Given the description of an element on the screen output the (x, y) to click on. 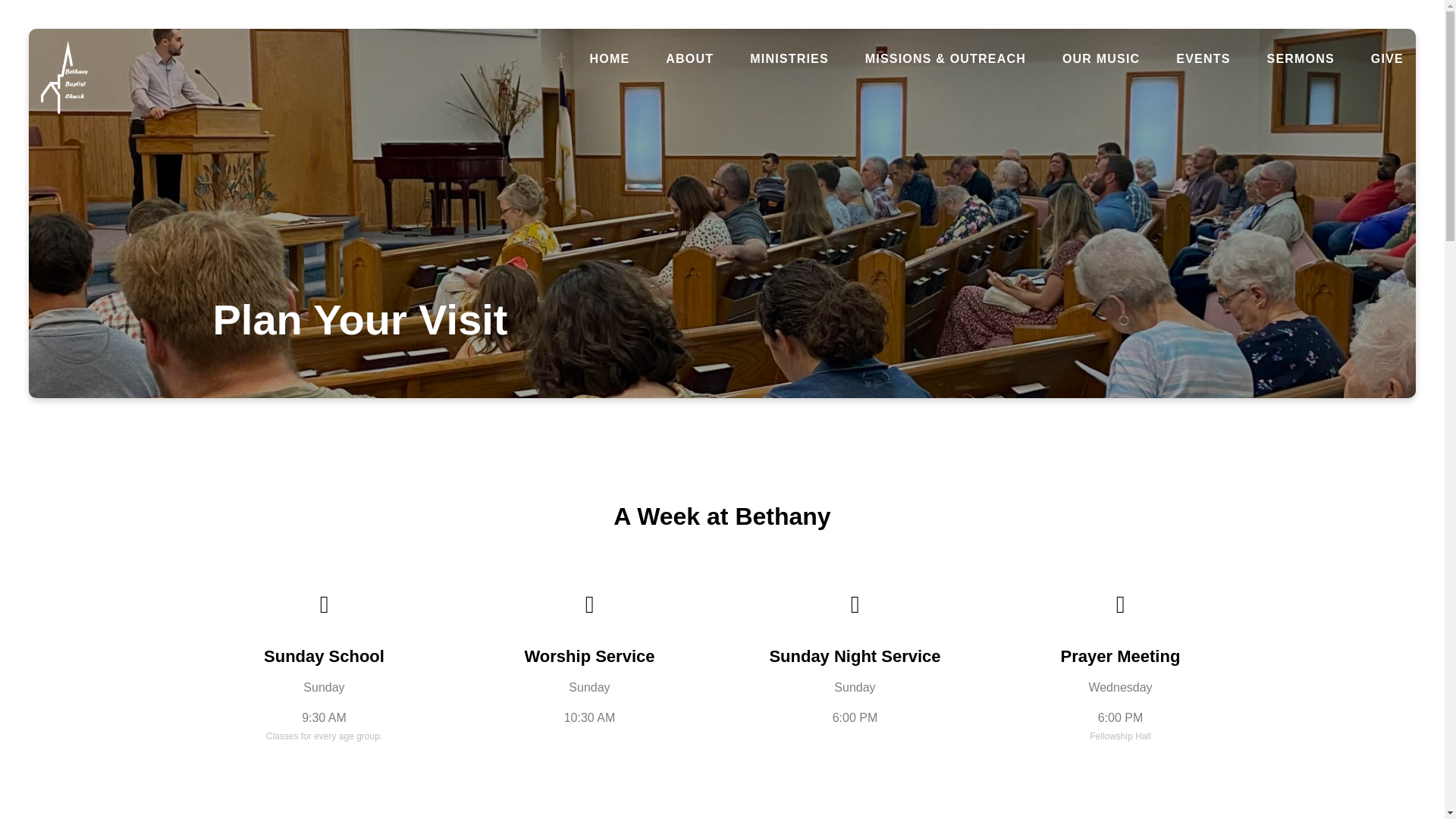
SERMONS (1300, 59)
ABOUT (689, 59)
EVENTS (1203, 59)
HOME (609, 59)
OUR MUSIC (1101, 59)
GIVE (1387, 59)
MINISTRIES (788, 59)
